Given the description of an element on the screen output the (x, y) to click on. 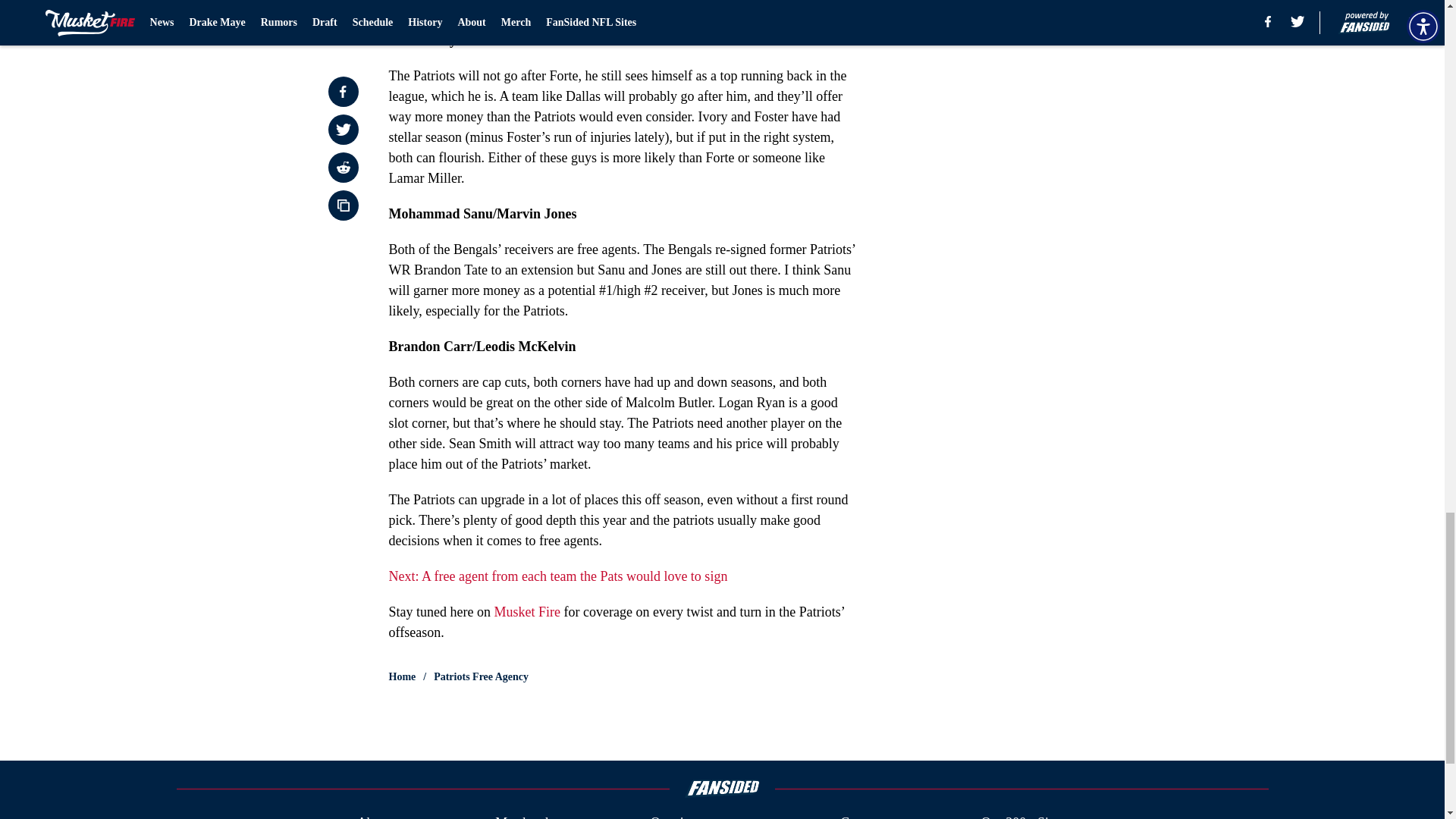
Masthead (521, 816)
Contact (861, 816)
Openings (676, 816)
About (373, 816)
Patriots Free Agency (480, 676)
Musket Fire (526, 611)
Home (401, 676)
